Given the description of an element on the screen output the (x, y) to click on. 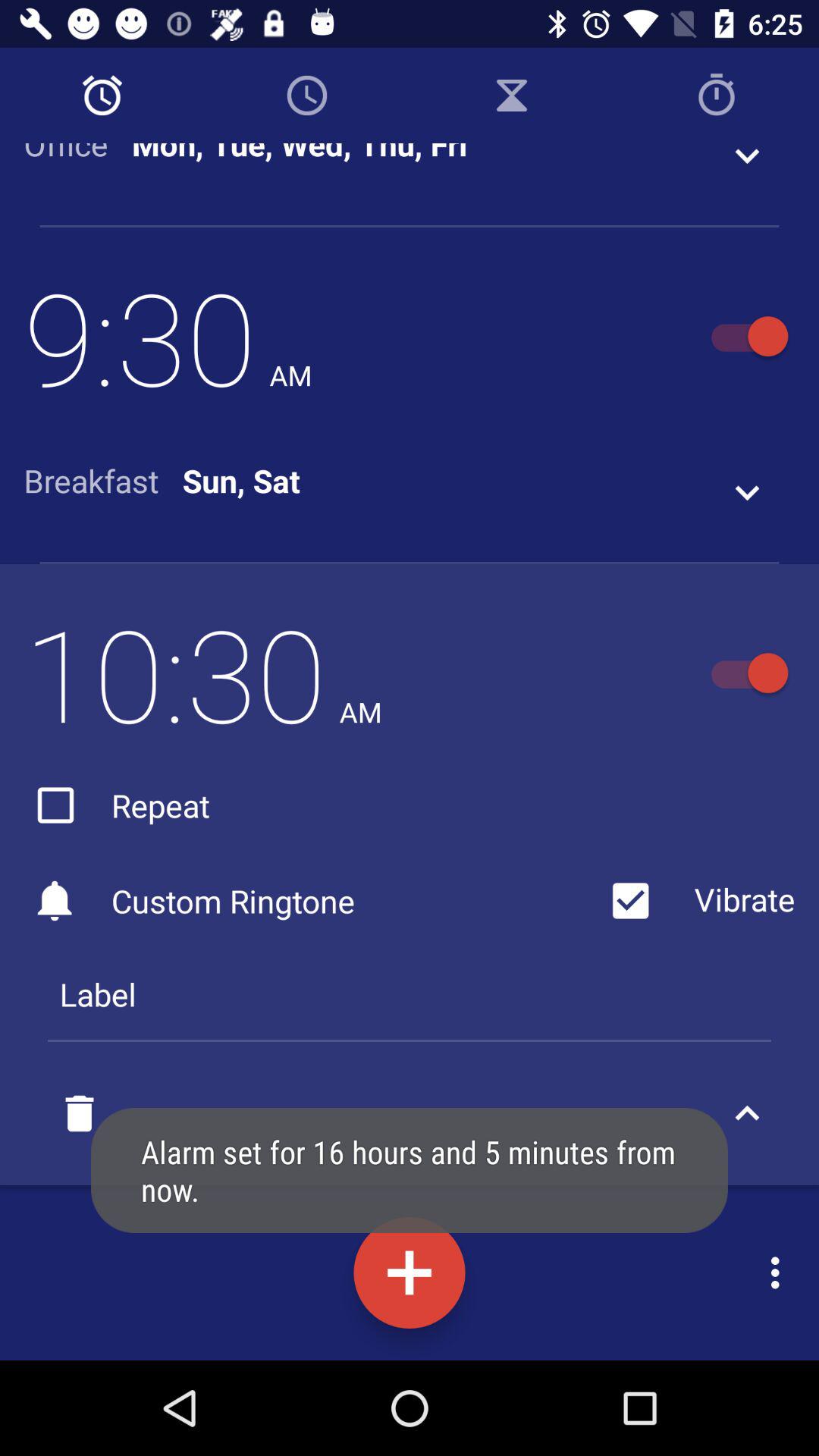
open item below the repeat (310, 900)
